Given the description of an element on the screen output the (x, y) to click on. 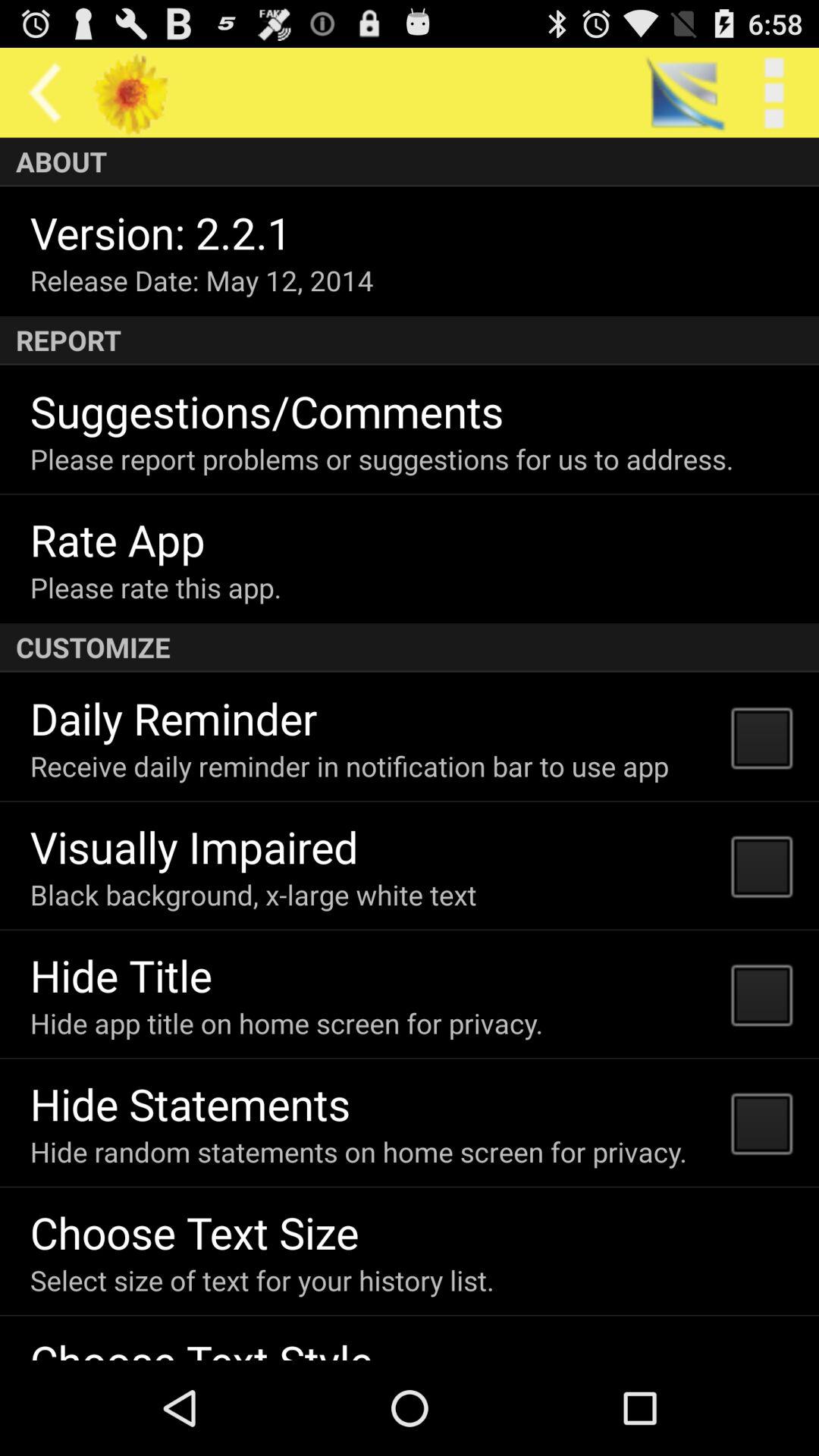
press the item above about app (774, 92)
